Given the description of an element on the screen output the (x, y) to click on. 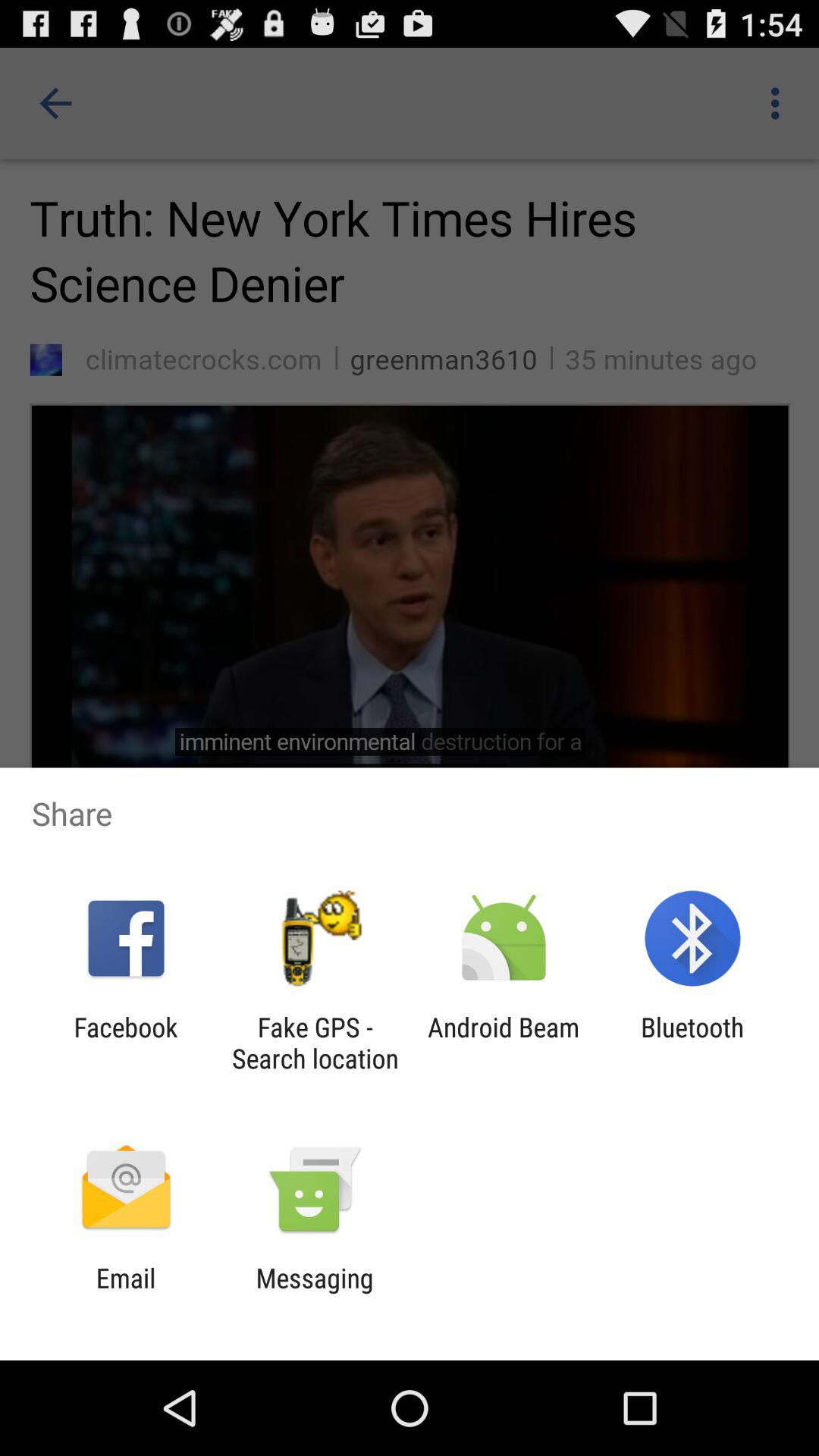
launch app to the left of messaging icon (125, 1293)
